Given the description of an element on the screen output the (x, y) to click on. 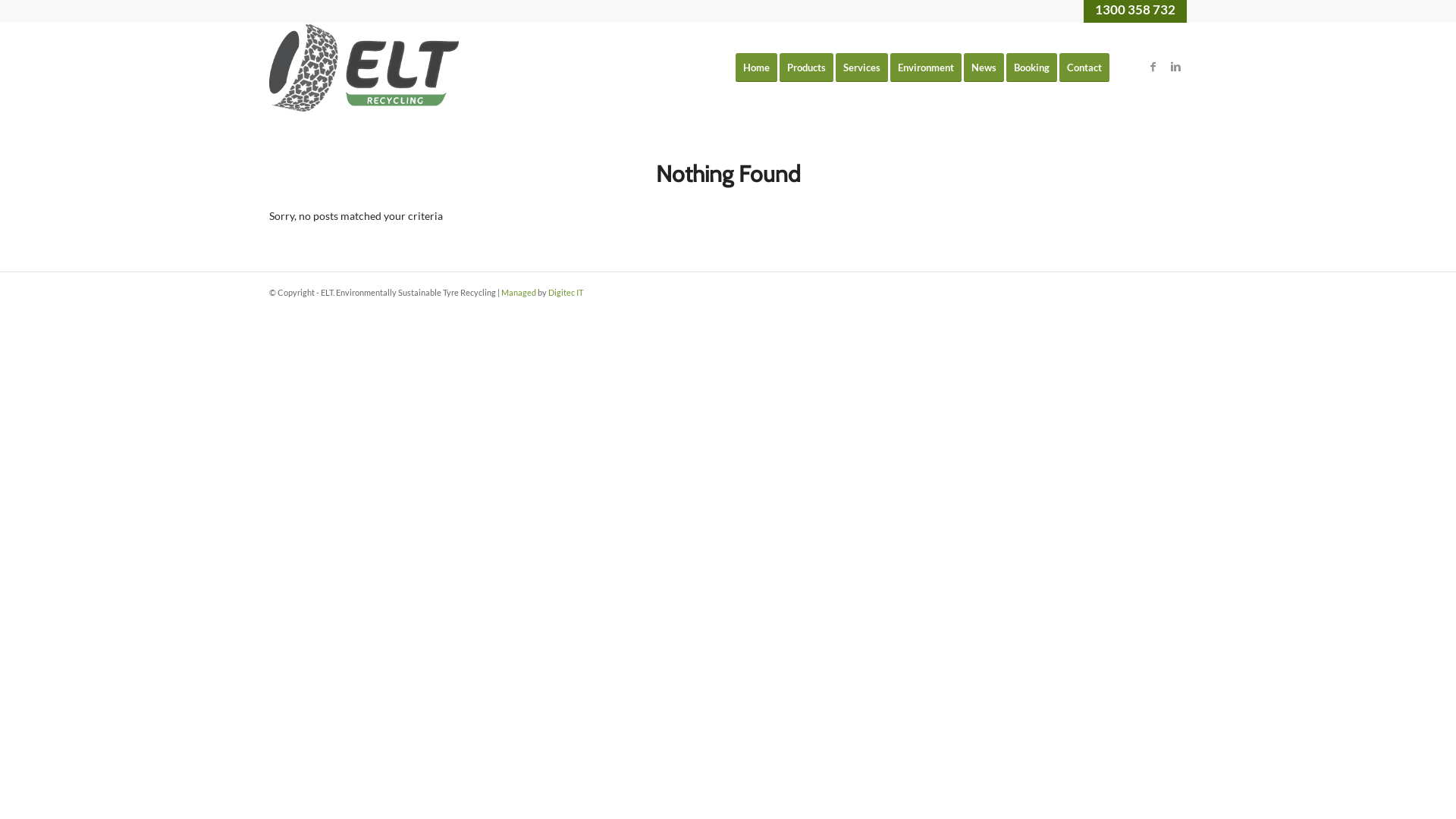
Linkedin Element type: hover (1175, 66)
Facebook Element type: hover (1152, 66)
Products Element type: text (811, 67)
Contact Element type: text (1084, 67)
Environment Element type: text (930, 67)
Home Element type: text (756, 67)
Managed Element type: text (518, 292)
Services Element type: text (866, 67)
Booking Element type: text (1036, 67)
Digitec IT Element type: text (565, 292)
Old Tyre Disposal Element type: hover (363, 67)
News Element type: text (988, 67)
